Given the description of an element on the screen output the (x, y) to click on. 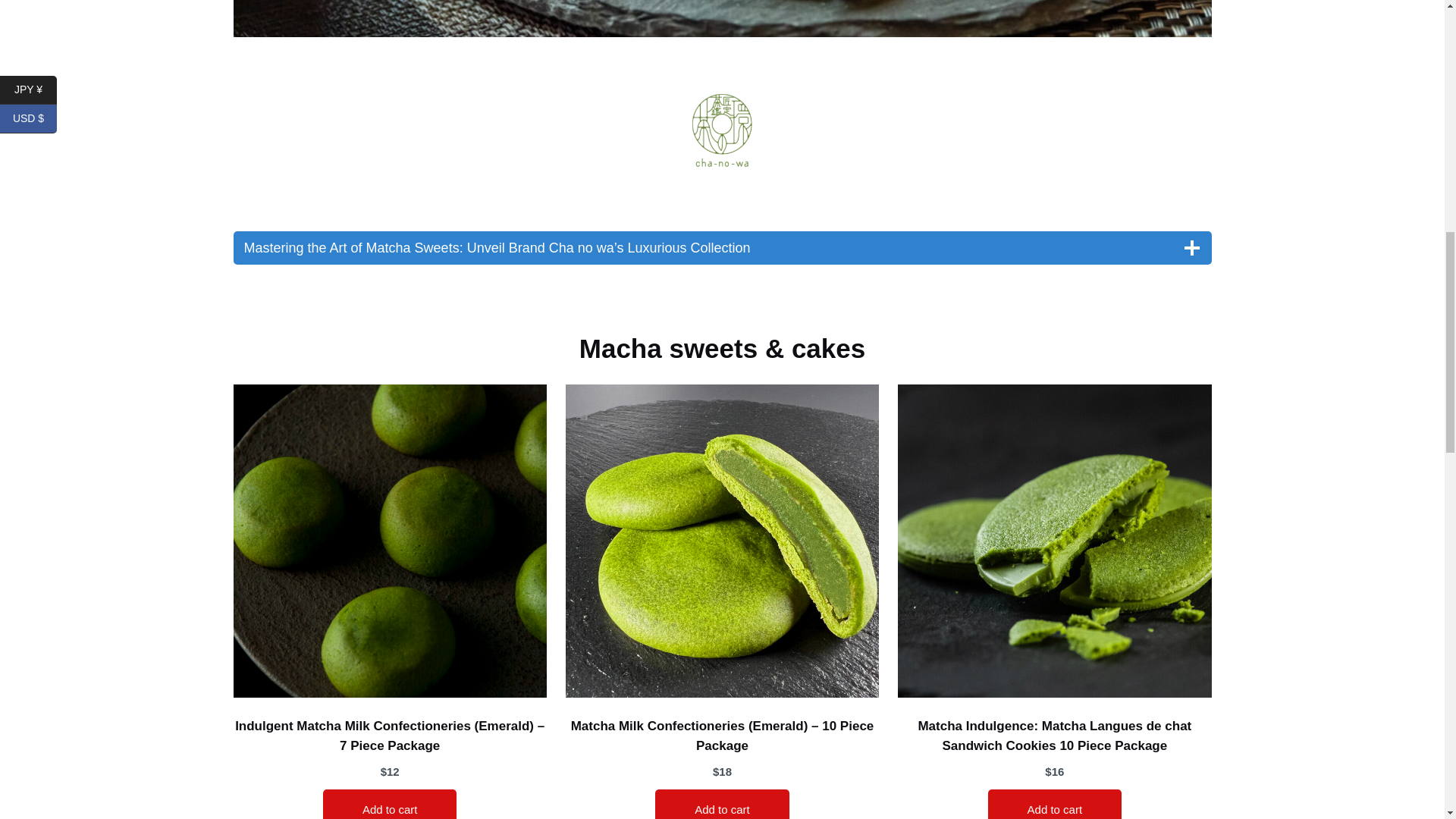
matcha-milk-confectioneries-emerald-10-piece-package (389, 540)
matcha-milk-confectioneries-emerald-10-piece-package (722, 540)
Add to cart (1055, 804)
Add to cart (722, 804)
Add to cart (390, 804)
